Given the description of an element on the screen output the (x, y) to click on. 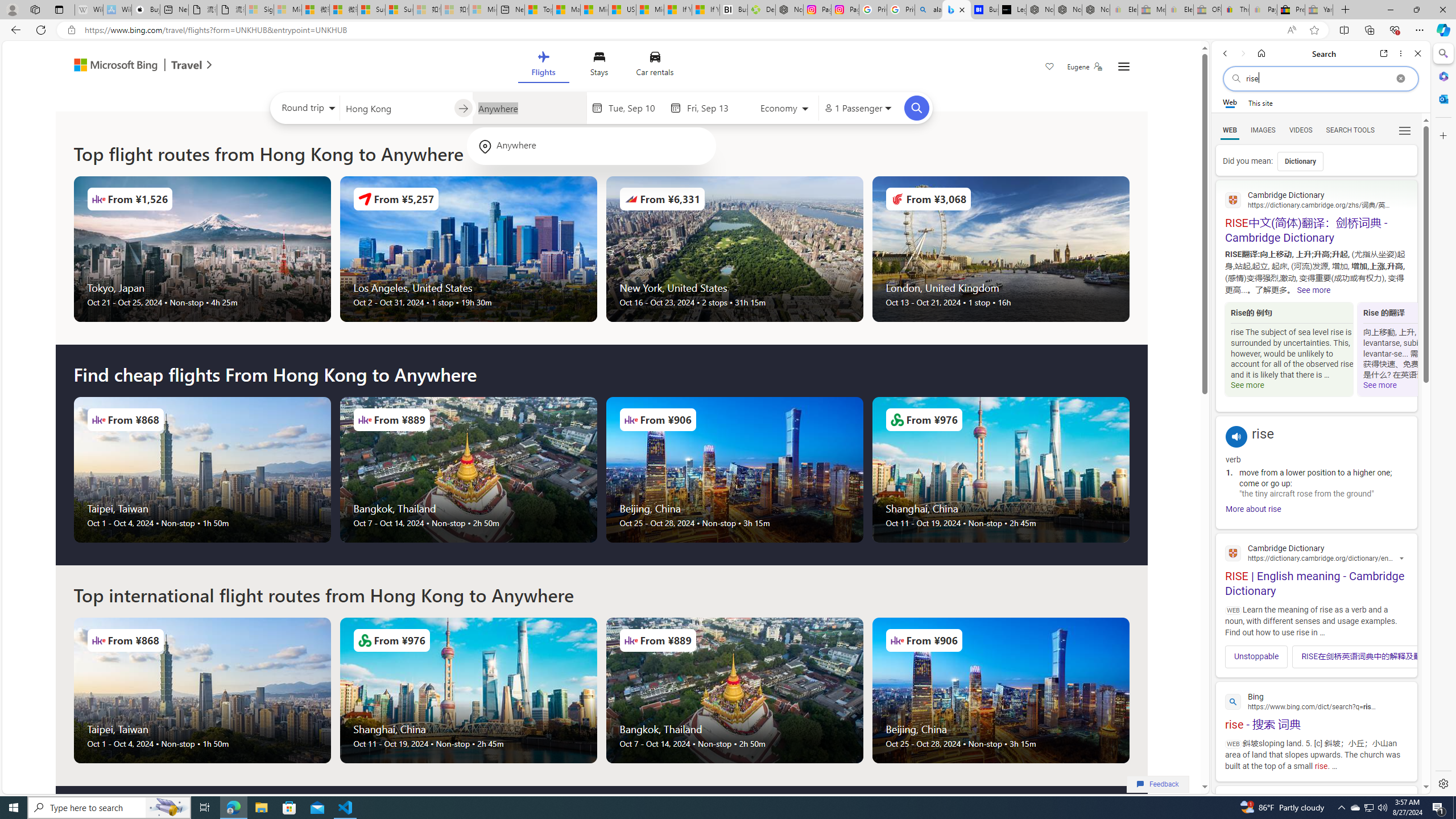
Class: trvl-hub-header nofilter (601, 65)
Select class of service (784, 109)
RISE | English meaning - Cambridge Dictionary (1315, 568)
Clear (1400, 78)
Cambridge Dictionary (1315, 552)
Press Room - eBay Inc. (1291, 9)
